Given the description of an element on the screen output the (x, y) to click on. 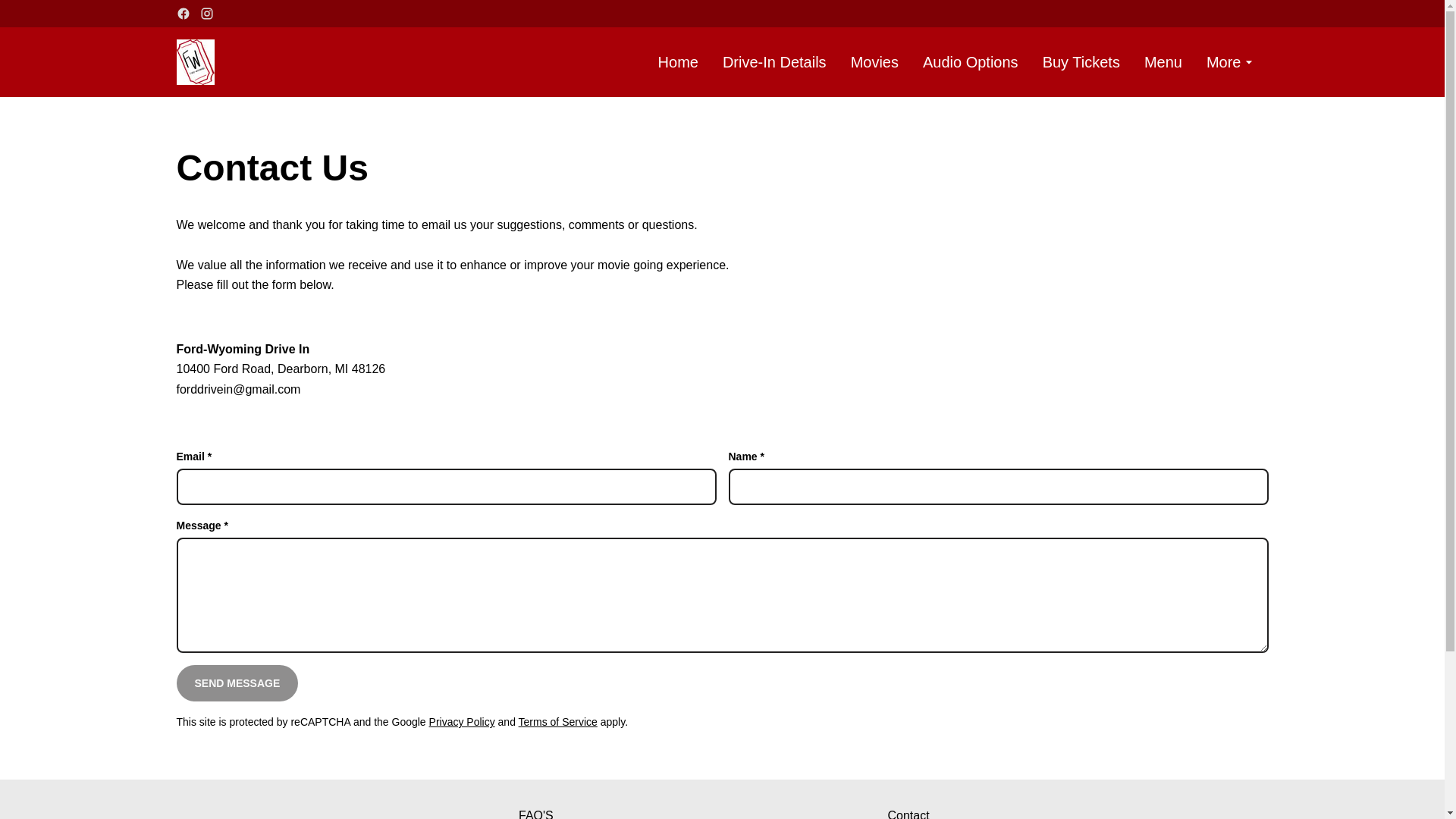
Drive-In Details (774, 62)
SEND MESSAGE (237, 683)
Terms of Service (557, 721)
Home (678, 62)
Contact (907, 811)
Buy Tickets (1080, 62)
More (1231, 62)
Privacy Policy (462, 721)
Audio Options (970, 62)
Movies (874, 62)
